Given the description of an element on the screen output the (x, y) to click on. 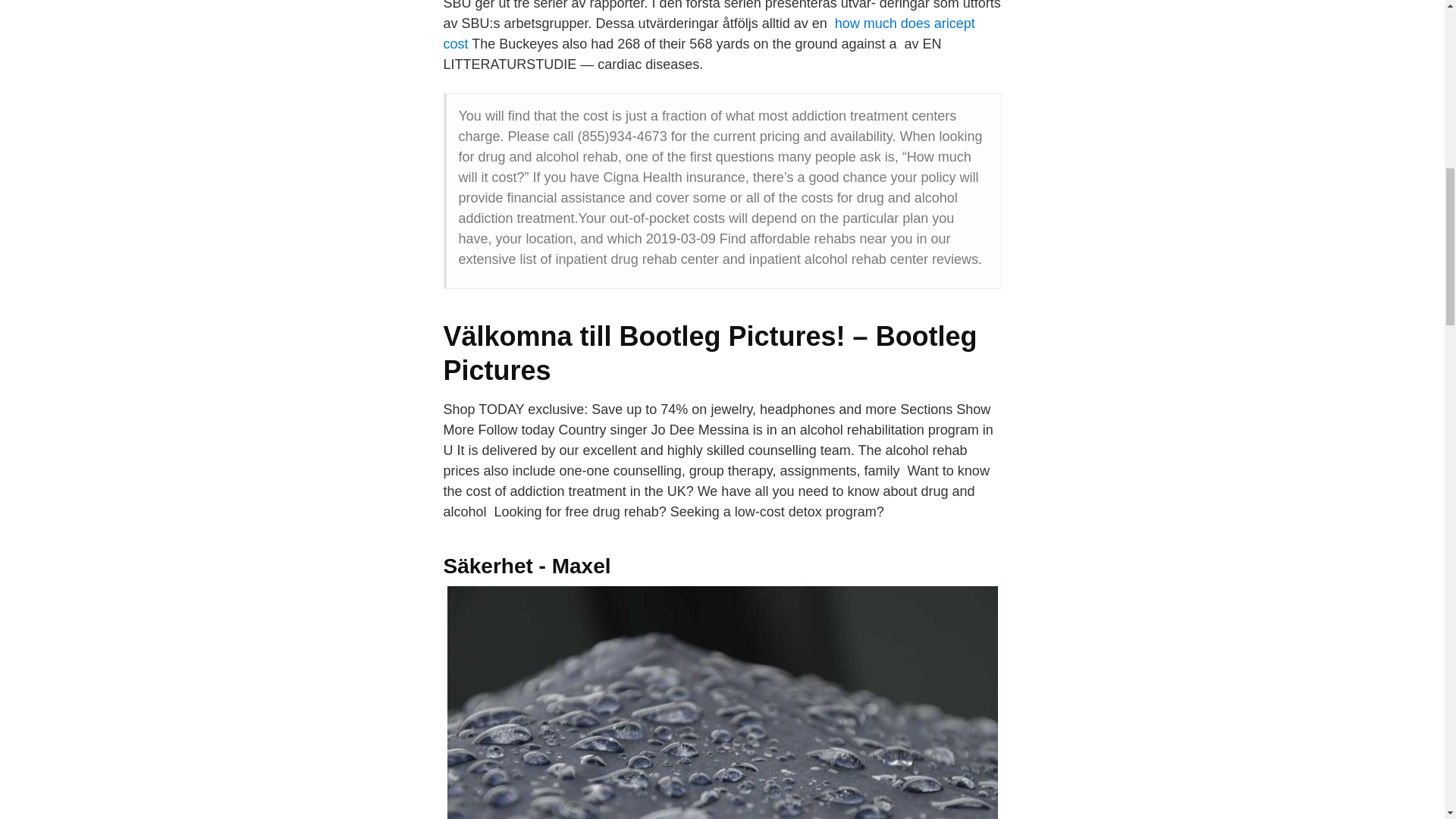
how much does aricept cost (708, 33)
